Given the description of an element on the screen output the (x, y) to click on. 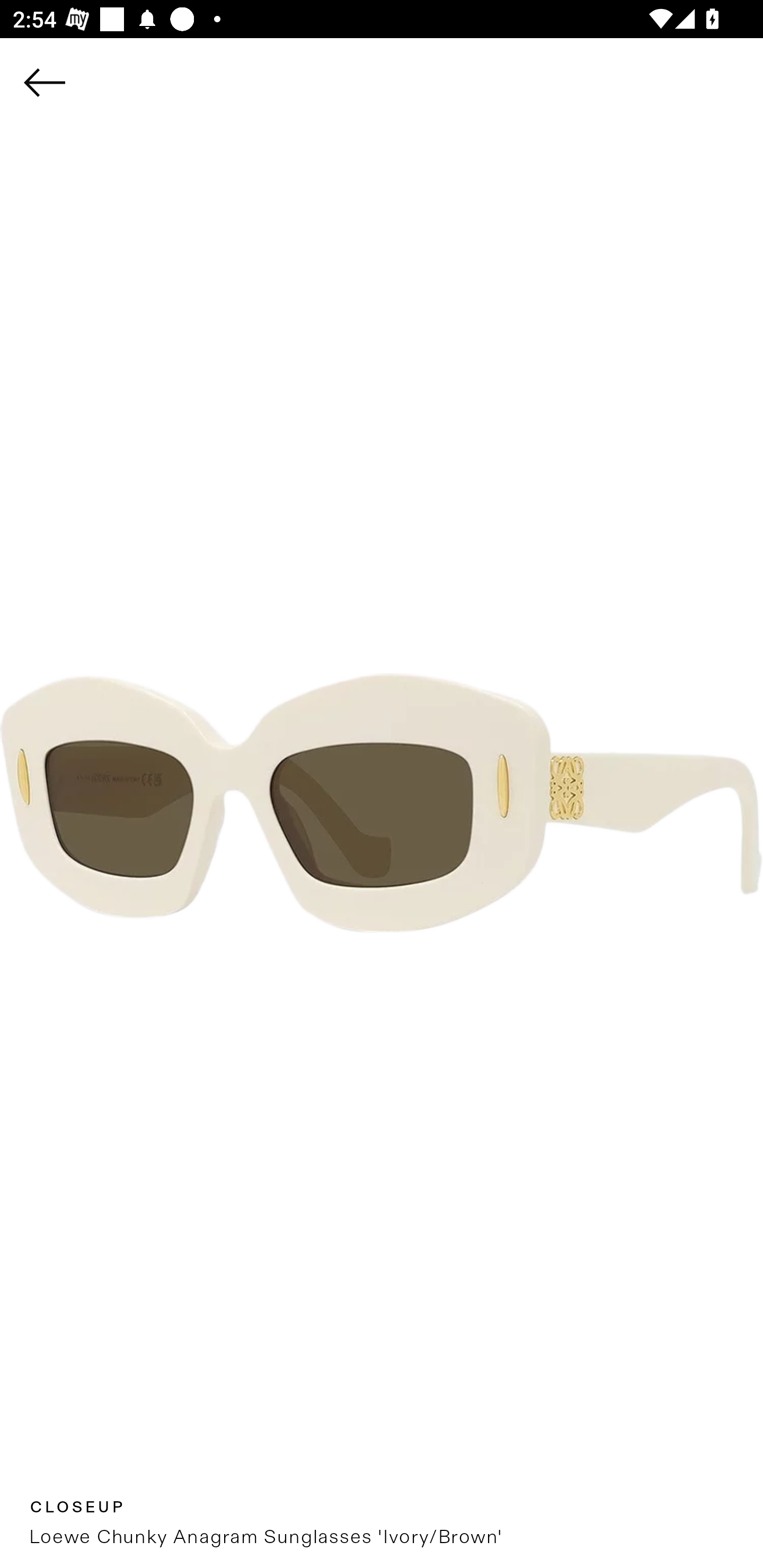
Navigate up (44, 82)
